Given the description of an element on the screen output the (x, y) to click on. 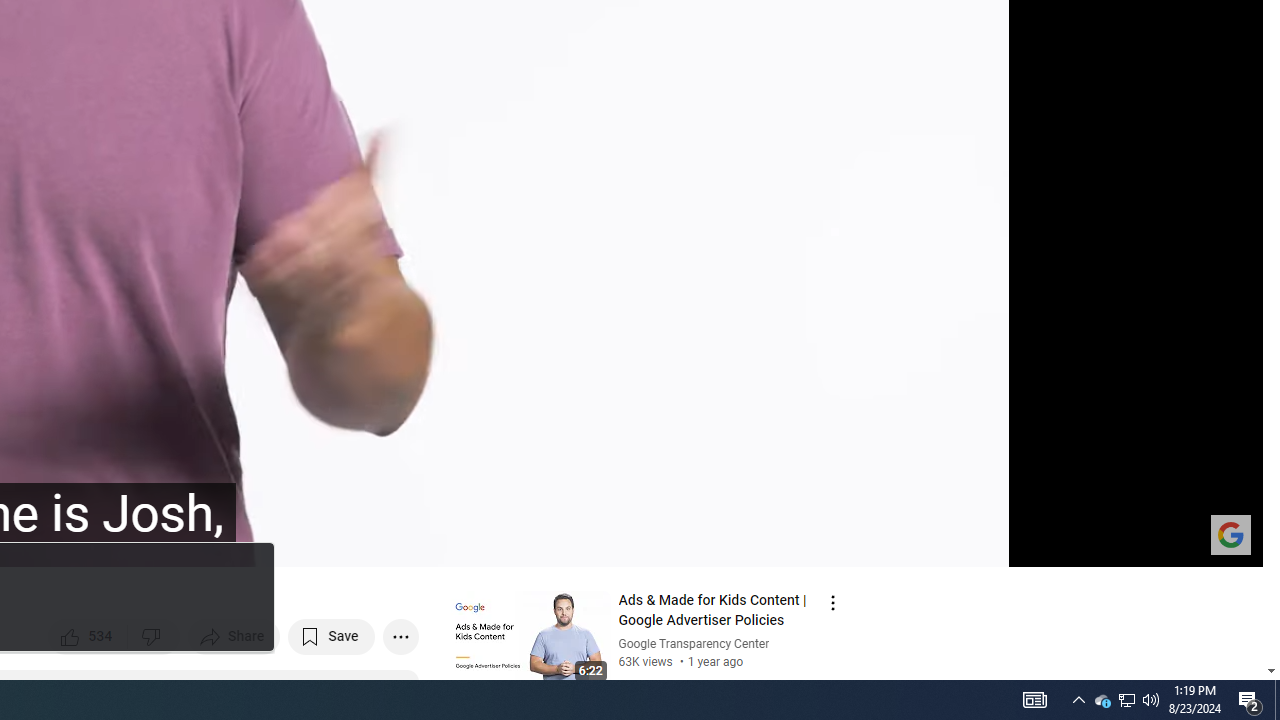
Subtitles/closed captions unavailable (1034, 543)
Theater mode (t) (1178, 543)
Full screen (f) (1226, 543)
Share (234, 636)
Channel watermark (1230, 534)
Settings (1082, 543)
Action menu (832, 602)
Dislike this video (154, 636)
like this video along with 534 other people (88, 636)
More actions (399, 636)
Autoplay is on (986, 543)
Miniplayer (i) (1130, 543)
Save to playlist (331, 636)
